Given the description of an element on the screen output the (x, y) to click on. 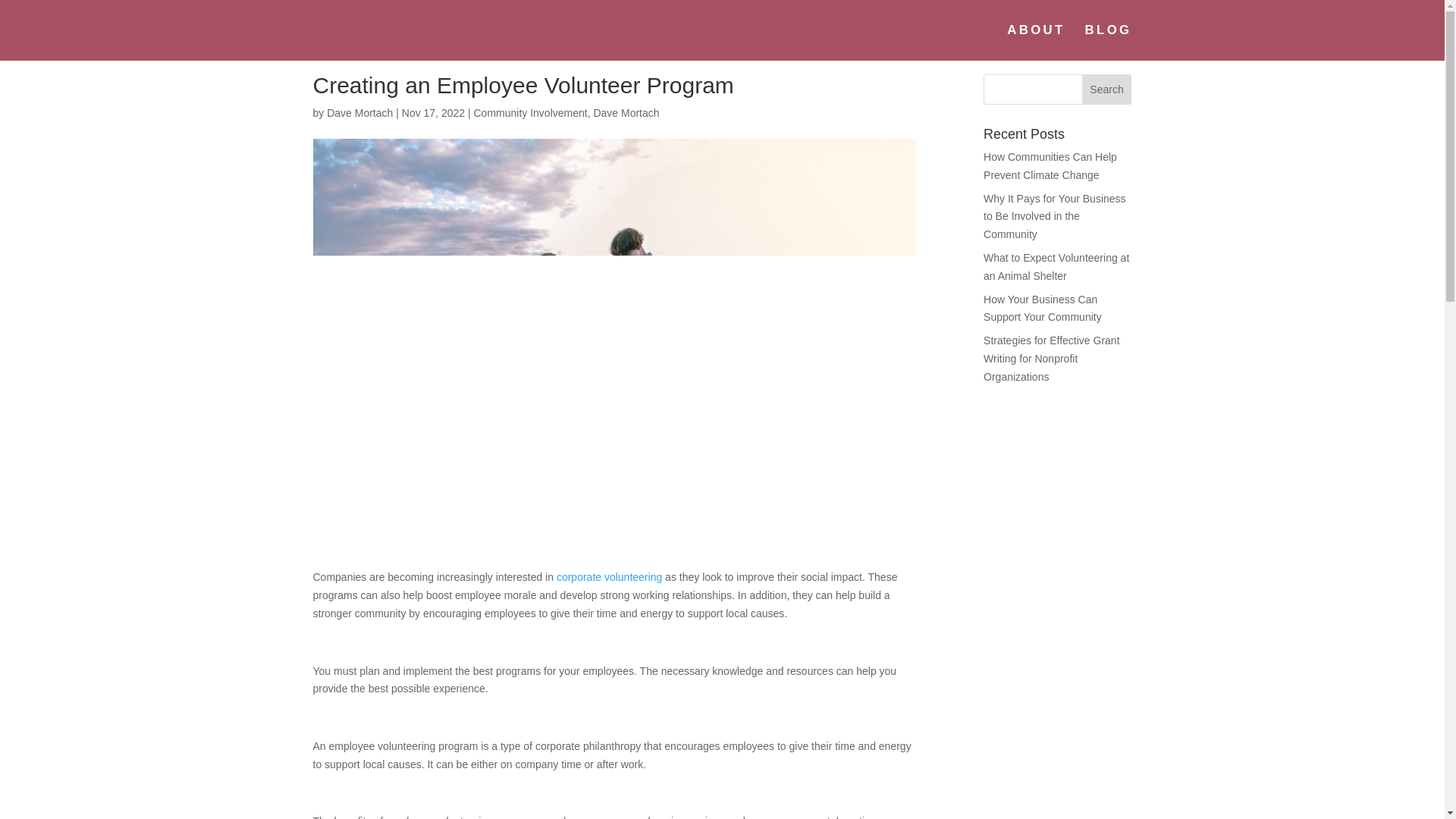
Community Involvement (529, 112)
Search (1106, 89)
How Your Business Can Support Your Community (1043, 308)
How Communities Can Help Prevent Climate Change (1050, 165)
What to Expect Volunteering at an Animal Shelter (1056, 266)
Dave Mortach (359, 112)
BLOG (1108, 42)
ABOUT (1035, 42)
Dave Mortach (625, 112)
Search (1106, 89)
Posts by Dave Mortach (359, 112)
corporate volunteering (609, 576)
